Given the description of an element on the screen output the (x, y) to click on. 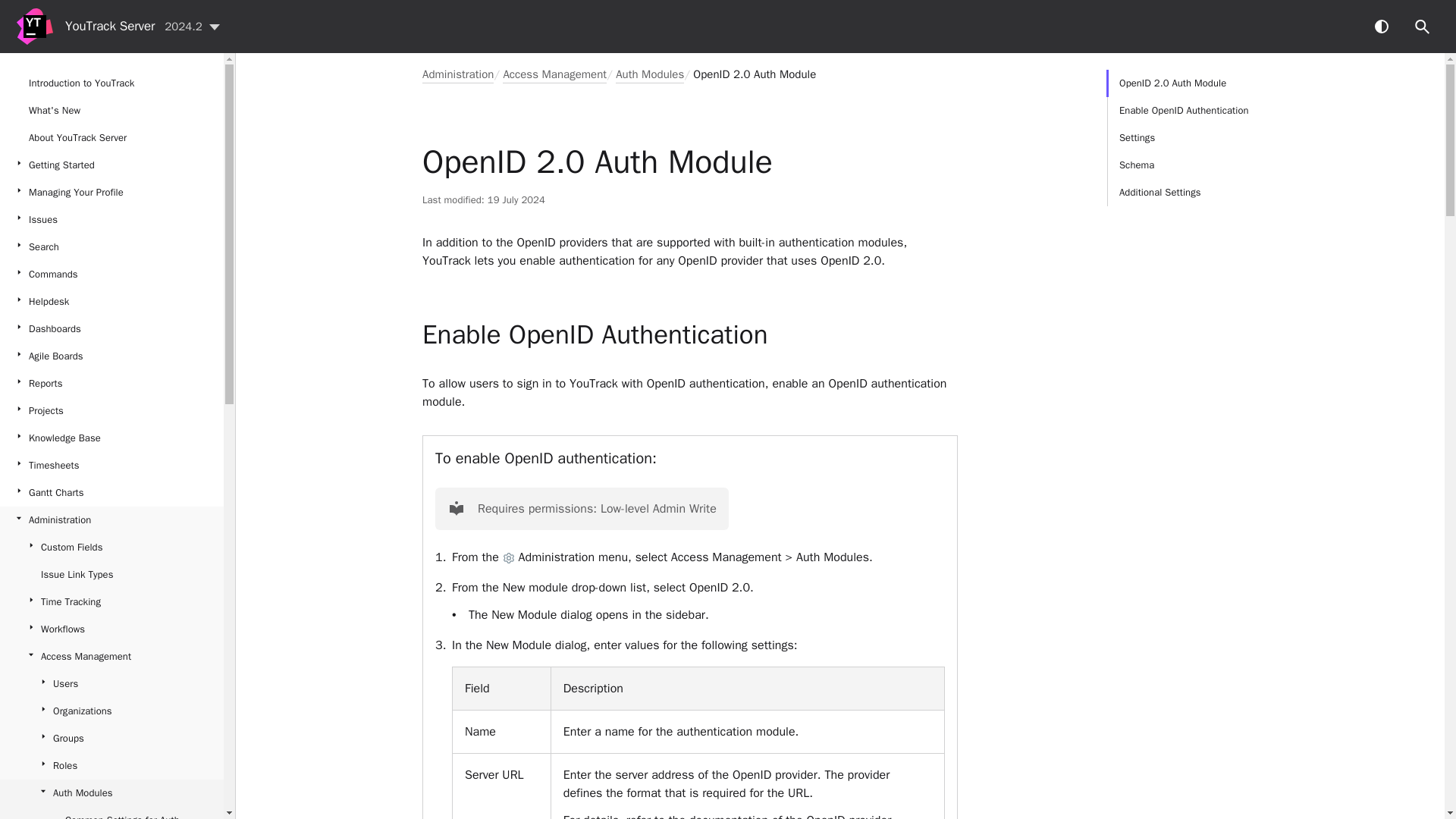
Agile Boards (112, 356)
Users (112, 683)
Issues (112, 219)
Projects (112, 411)
Search (112, 247)
Auth Modules (112, 792)
Search (1422, 26)
Custom Fields (112, 547)
Reports (112, 383)
Gantt Charts (112, 492)
Access Management (112, 656)
Dashboards (112, 329)
What's New (112, 110)
Commands (112, 274)
